Given the description of an element on the screen output the (x, y) to click on. 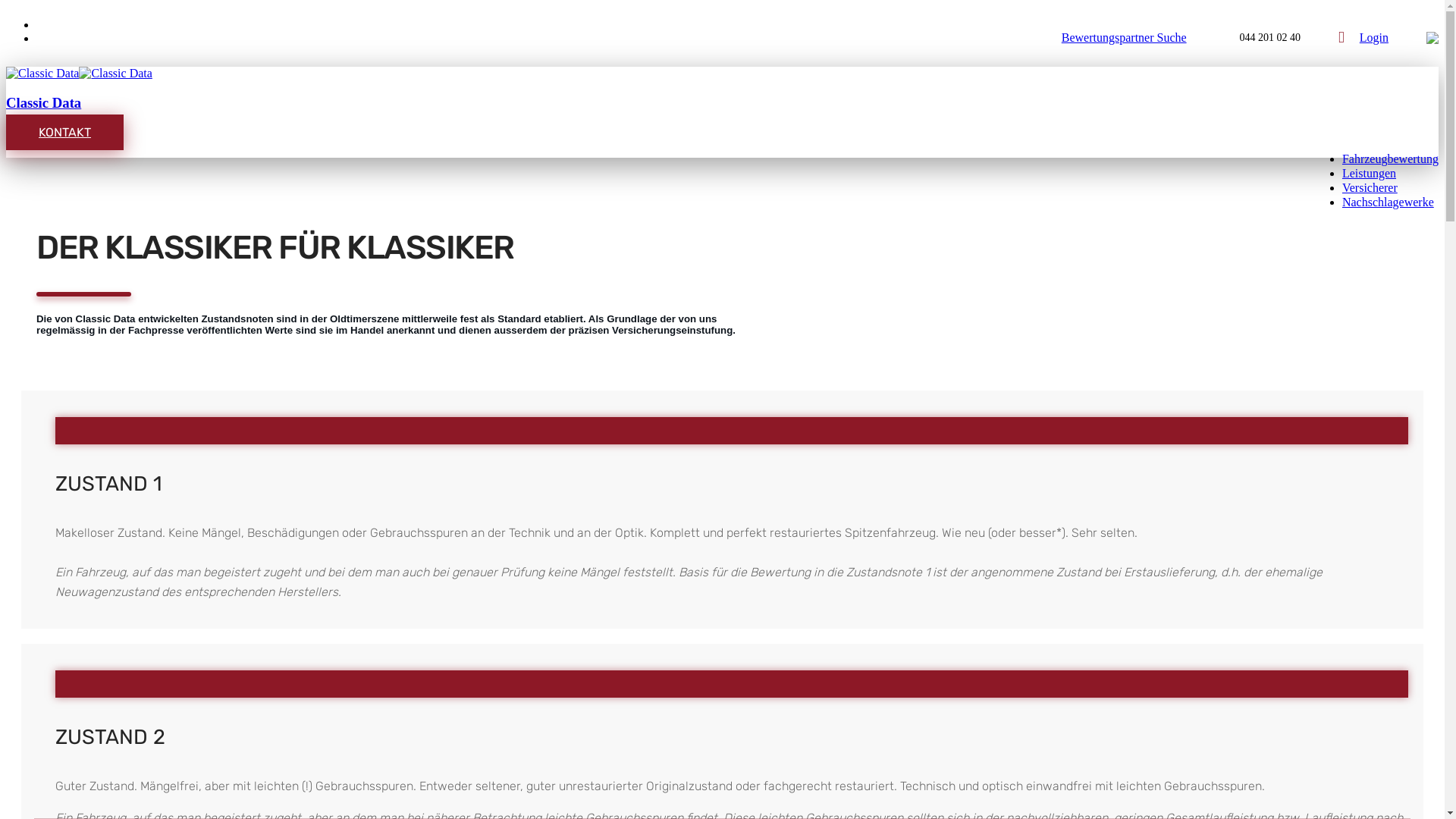
Fahrzeugbewertung Element type: text (1390, 158)
Classic Data Element type: text (43, 102)
Bewertungspartner Suche Element type: text (1123, 36)
Versicherer Element type: text (1369, 187)
Leistungen Element type: text (1369, 172)
Login Element type: text (1373, 36)
Nachschlagewerke Element type: text (1388, 201)
KONTAKT Element type: text (64, 132)
